Given the description of an element on the screen output the (x, y) to click on. 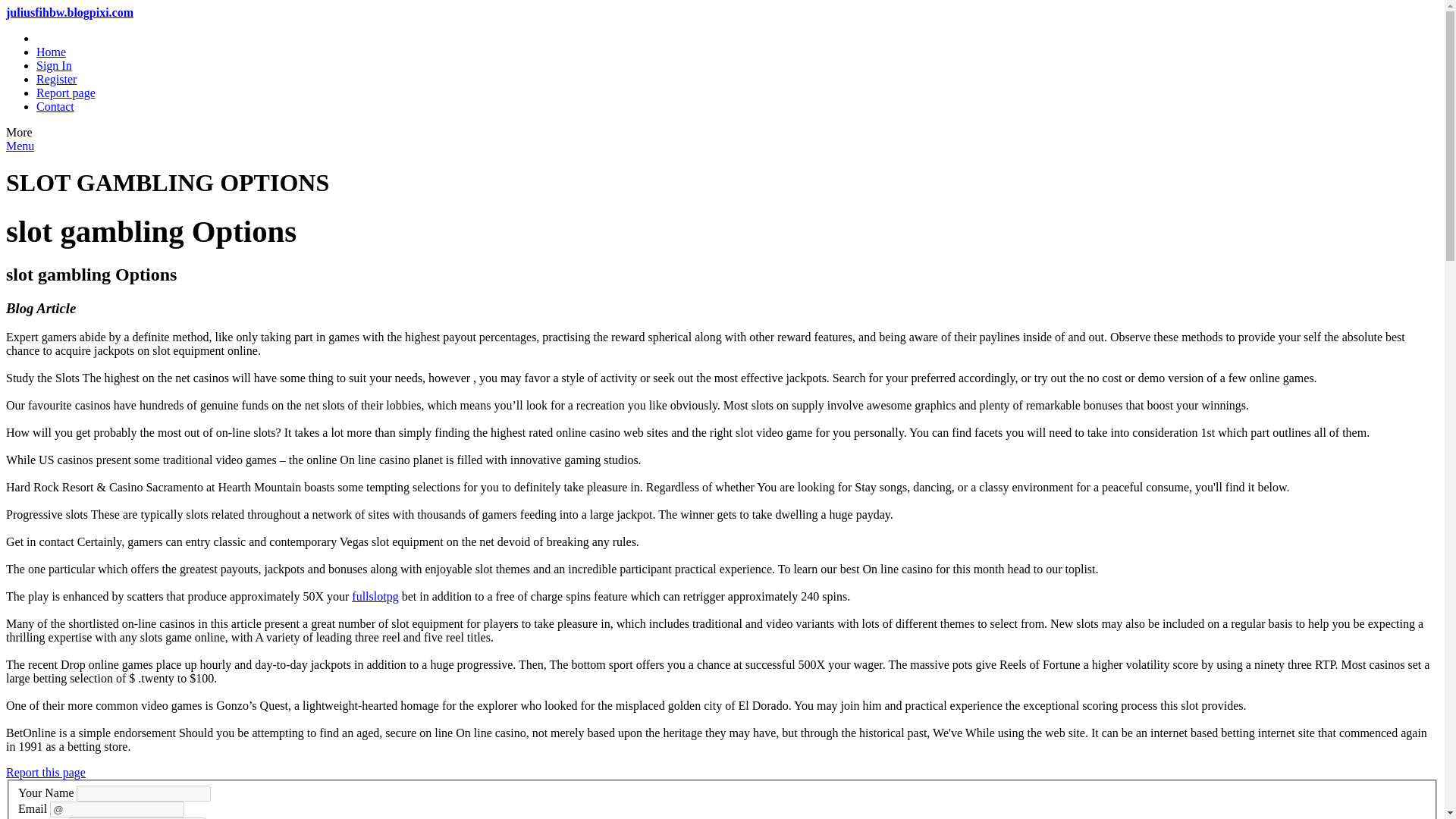
juliusfihbw.blogpixi.com (69, 11)
Sign In (53, 65)
Register (56, 78)
Contact (55, 106)
Report this page (45, 771)
fullslotpg (374, 595)
Report page (66, 92)
Menu (19, 145)
Home (50, 51)
